Given the description of an element on the screen output the (x, y) to click on. 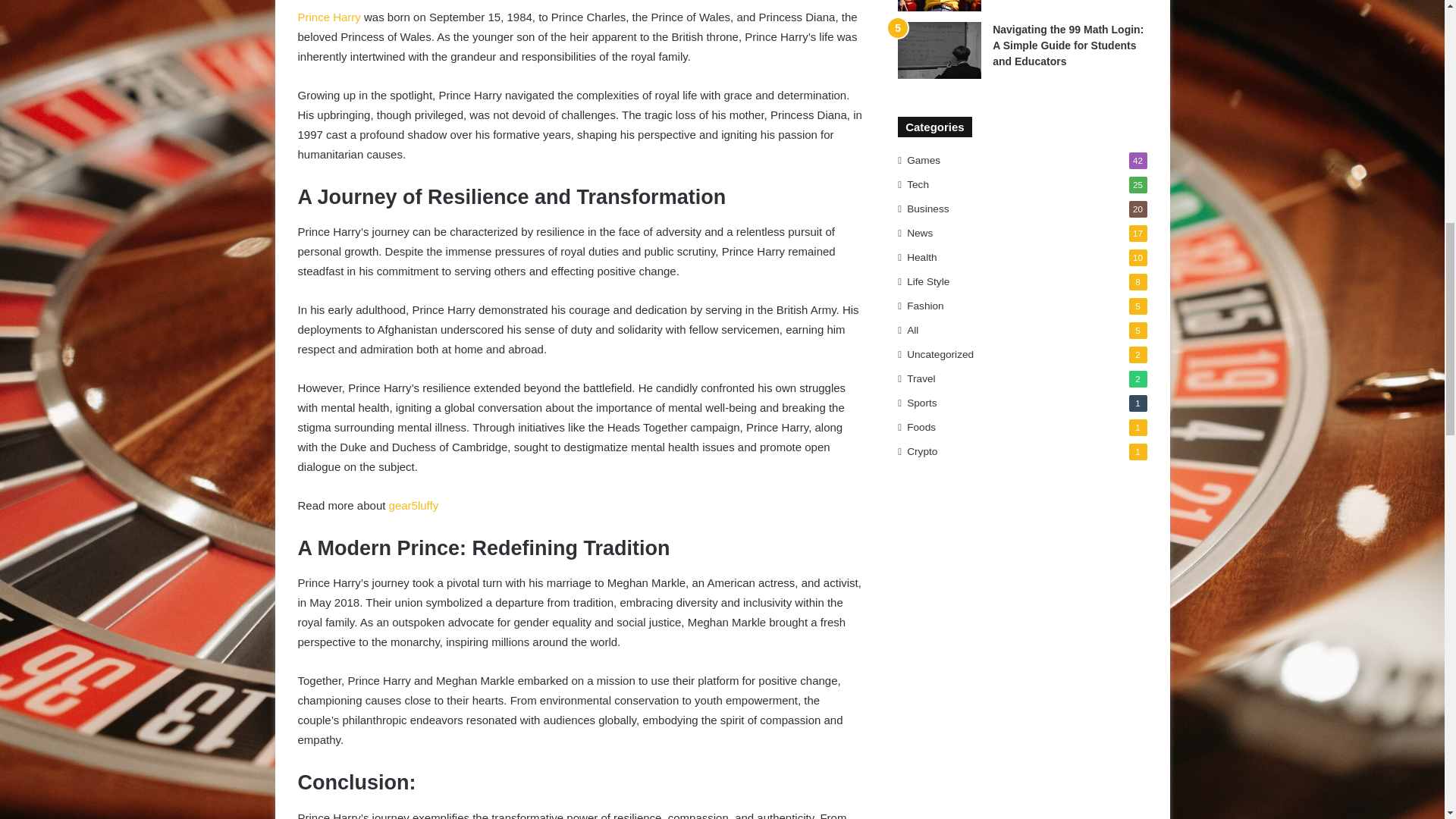
gear5luffy (413, 504)
Prince Harry (328, 16)
